Given the description of an element on the screen output the (x, y) to click on. 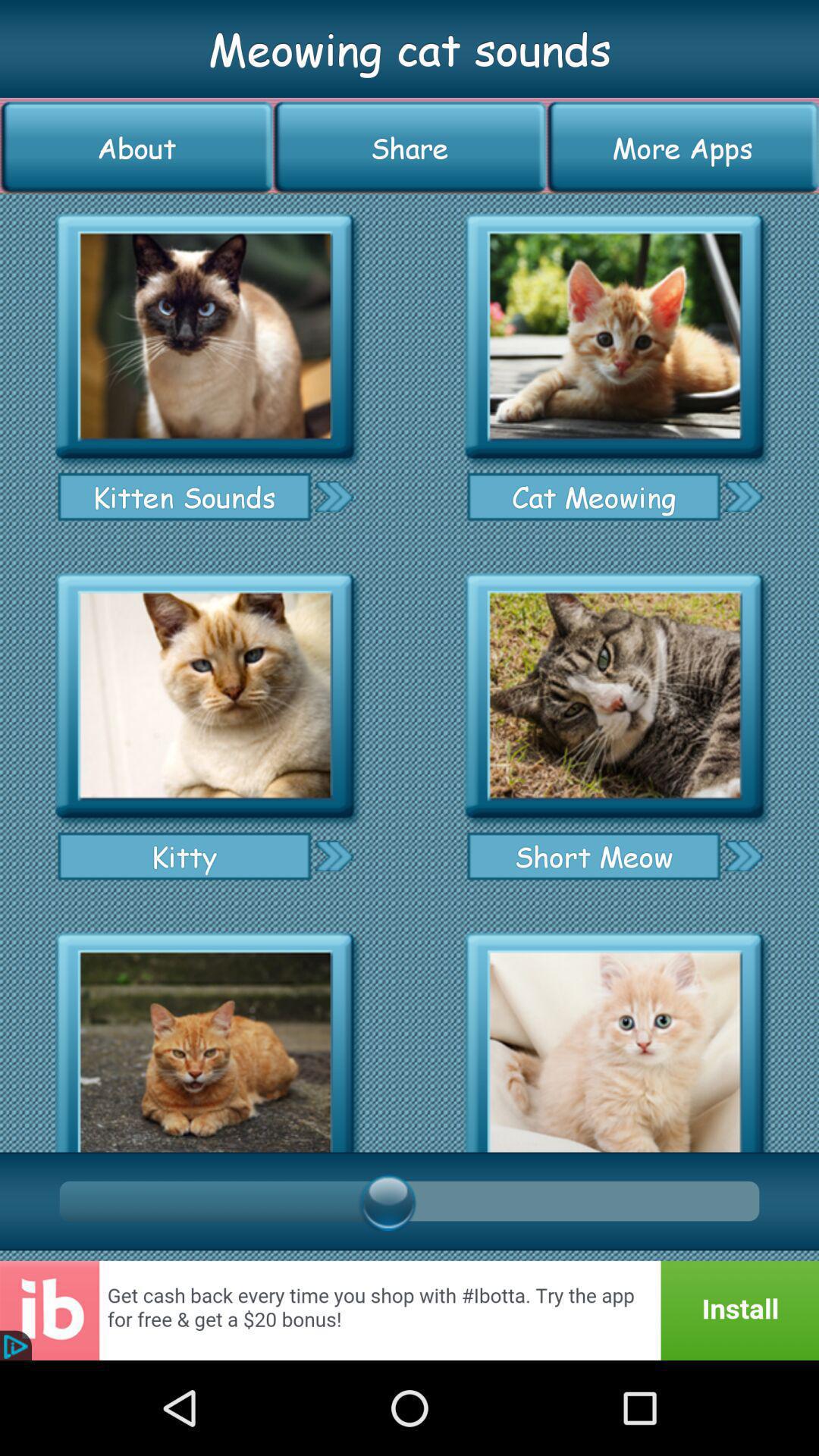
flip until share icon (409, 147)
